Given the description of an element on the screen output the (x, y) to click on. 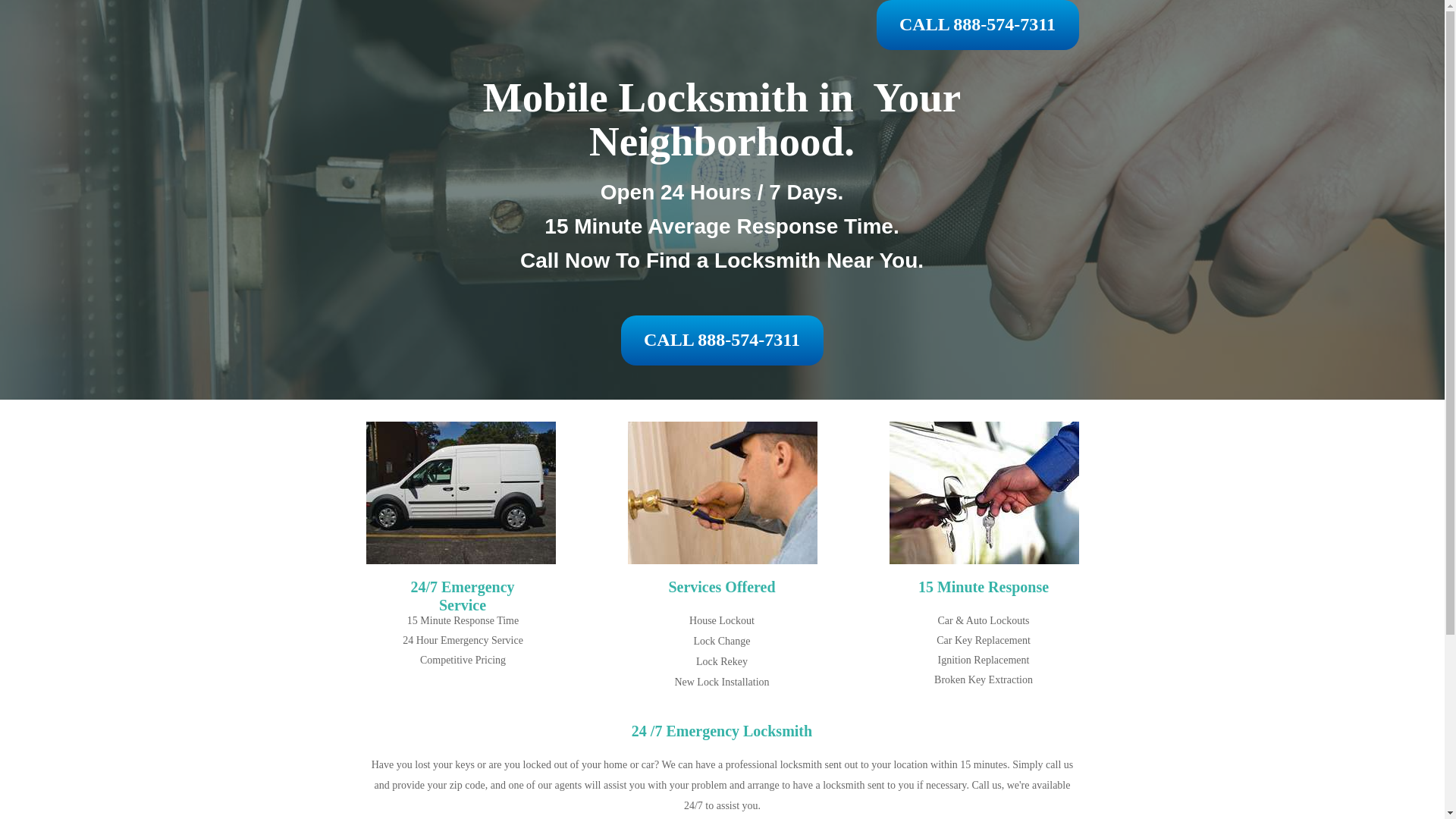
CALL 888-574-7311 Element type: text (977, 25)
CALL 888-574-7311 Element type: text (721, 340)
